Given the description of an element on the screen output the (x, y) to click on. 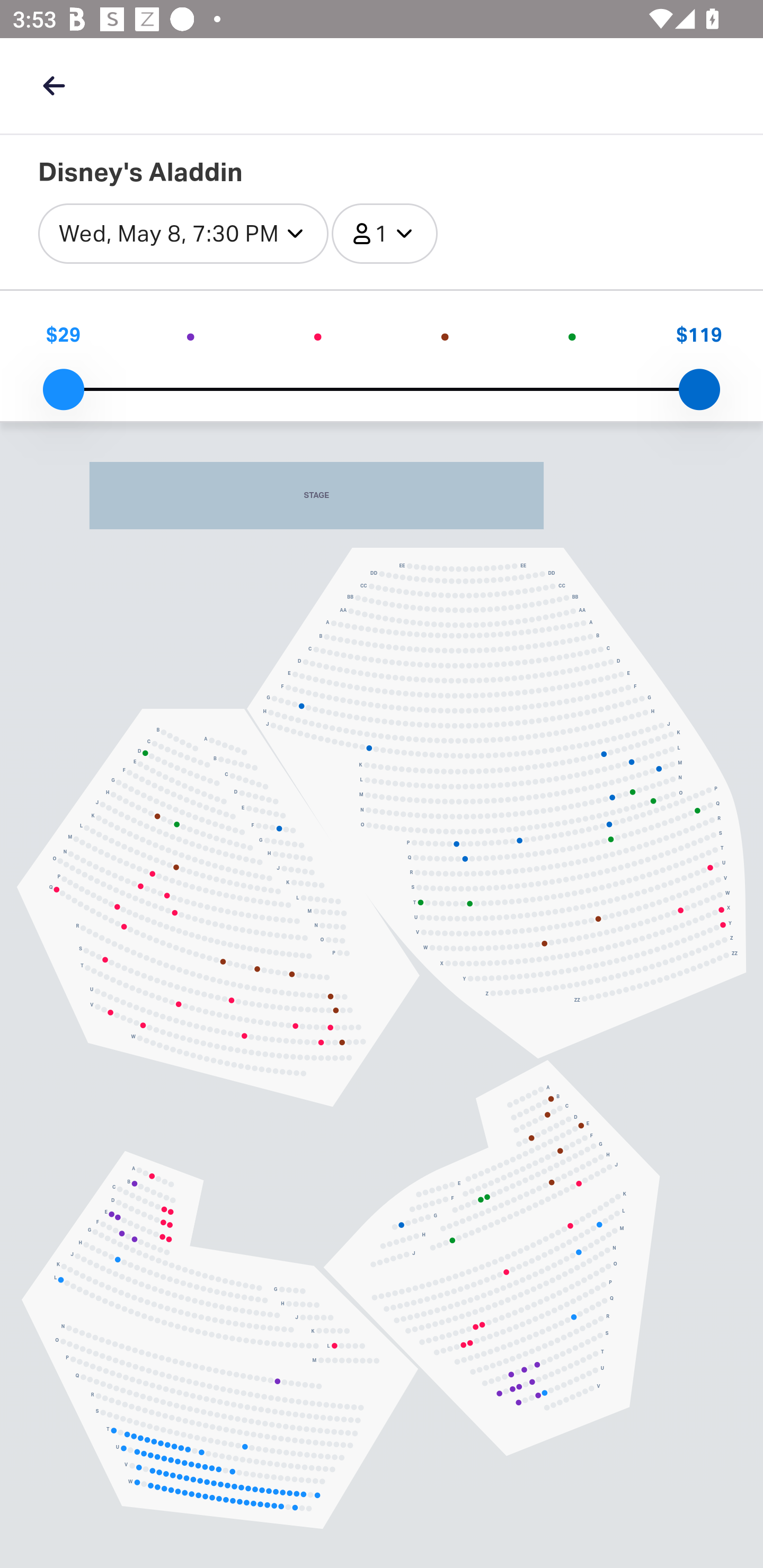
back button (53, 85)
Wed, May 8, 7:30 PM (183, 232)
1 (384, 232)
$29 (62, 334)
• (190, 334)
• (317, 334)
• (445, 334)
• (571, 334)
$119 (699, 334)
0.0 (62, 387)
100.0 (699, 387)
